Given the description of an element on the screen output the (x, y) to click on. 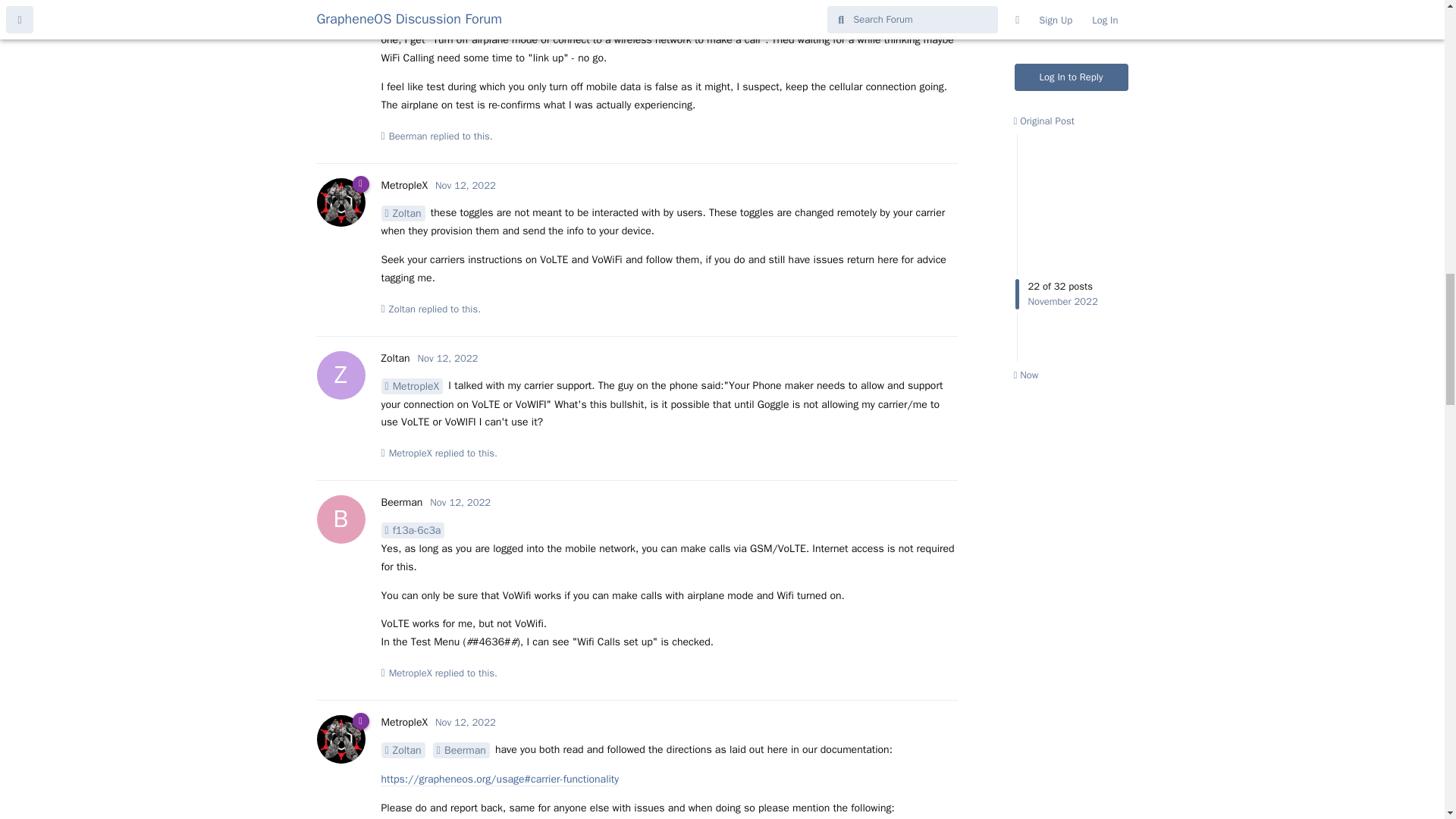
Saturday, November 12, 2022 6:40 AM (465, 185)
Saturday, November 12, 2022 7:19 PM (459, 502)
Saturday, November 12, 2022 4:49 AM (466, 0)
Saturday, November 12, 2022 12:12 PM (448, 358)
